Given the description of an element on the screen output the (x, y) to click on. 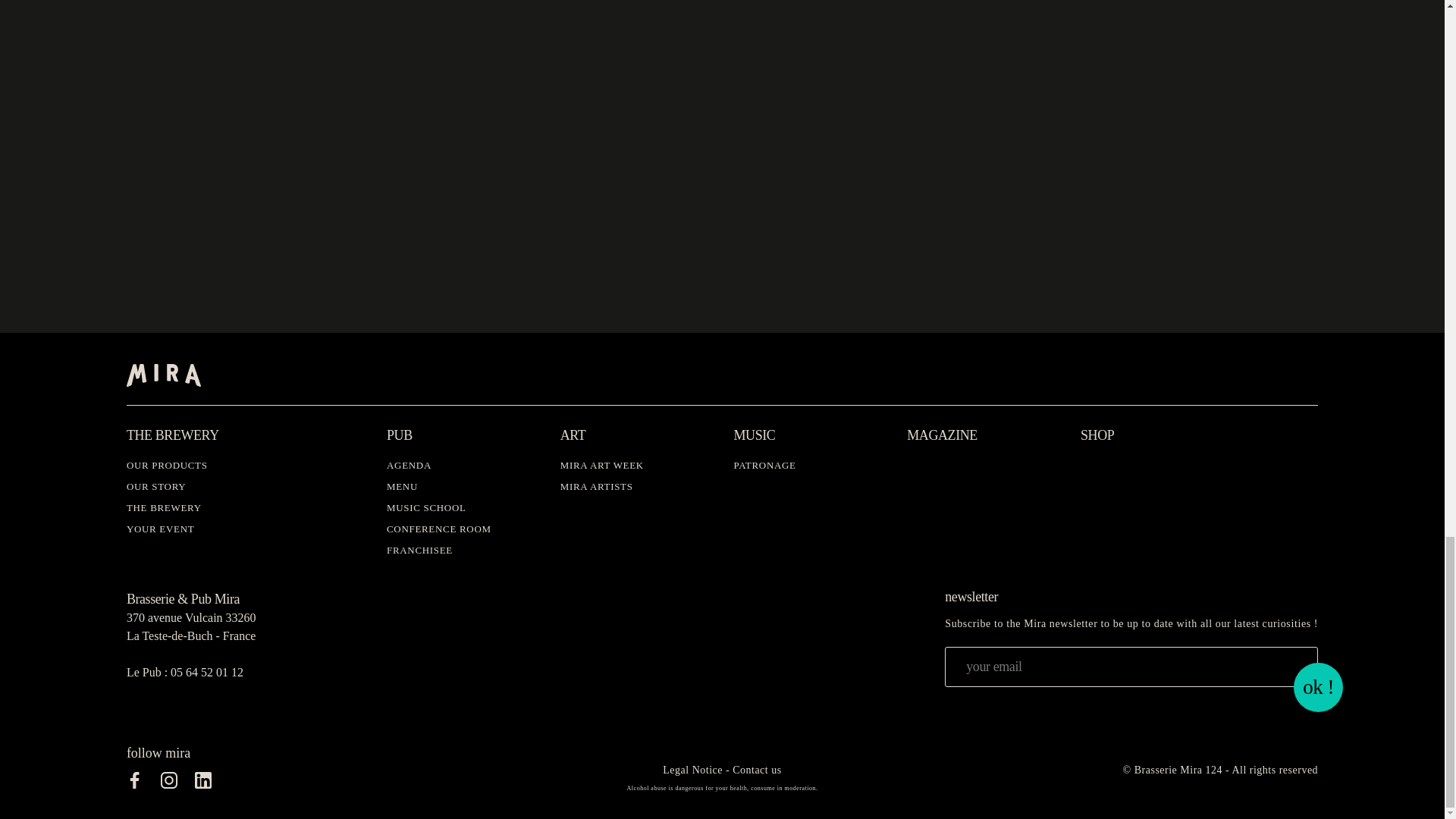
ok ! (1318, 686)
05 64 52 01 12 (206, 671)
ok ! (1318, 686)
